Given the description of an element on the screen output the (x, y) to click on. 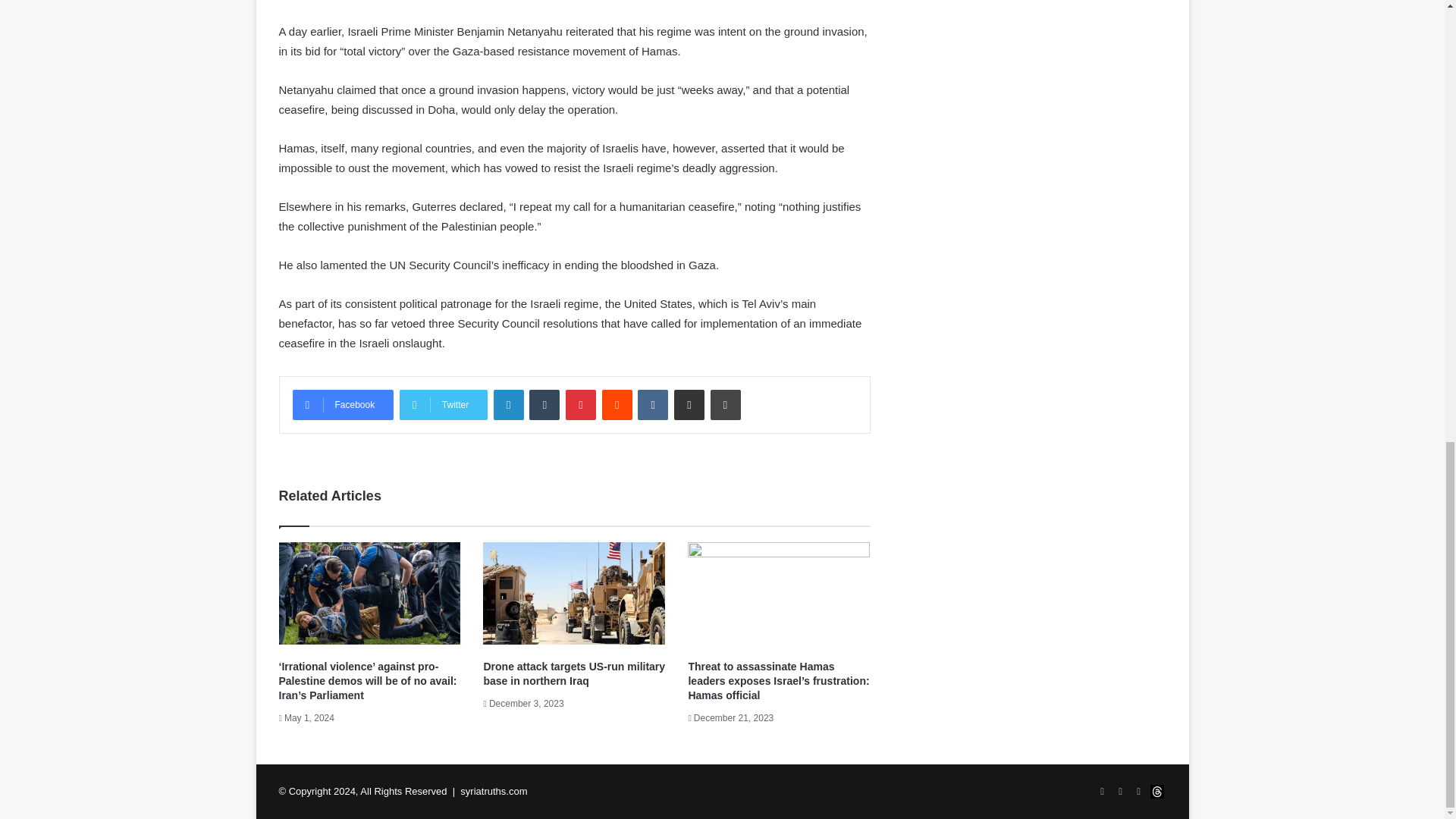
Share via Email (689, 404)
Pinterest (580, 404)
Print (725, 404)
LinkedIn (508, 404)
Tumblr (544, 404)
Twitter (442, 404)
Reddit (616, 404)
Facebook (343, 404)
VKontakte (652, 404)
